Given the description of an element on the screen output the (x, y) to click on. 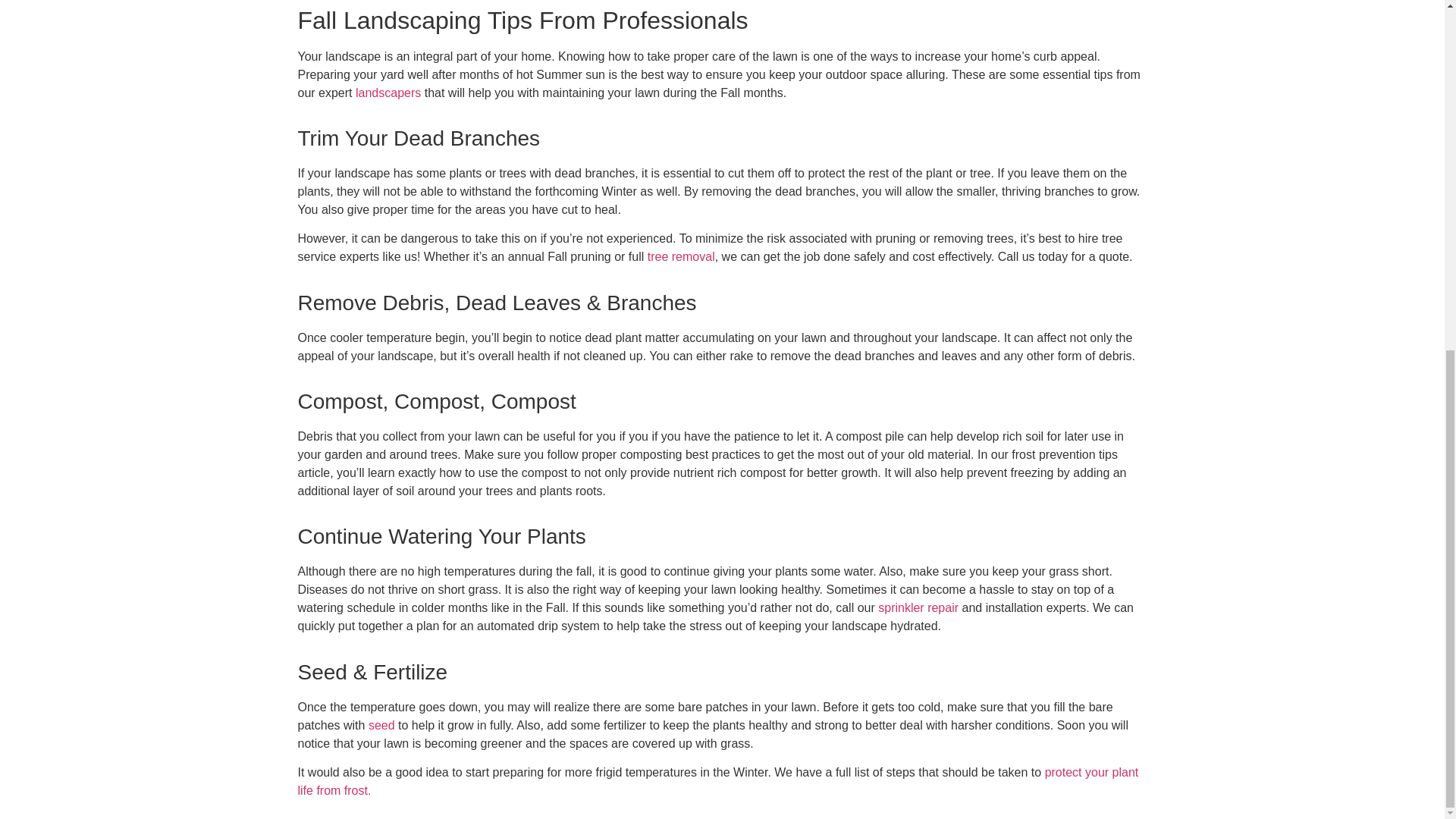
tree removal (680, 256)
landscapers (387, 91)
seed (381, 725)
protect your plant life from frost. (717, 780)
sprinkler repair (917, 607)
